Given the description of an element on the screen output the (x, y) to click on. 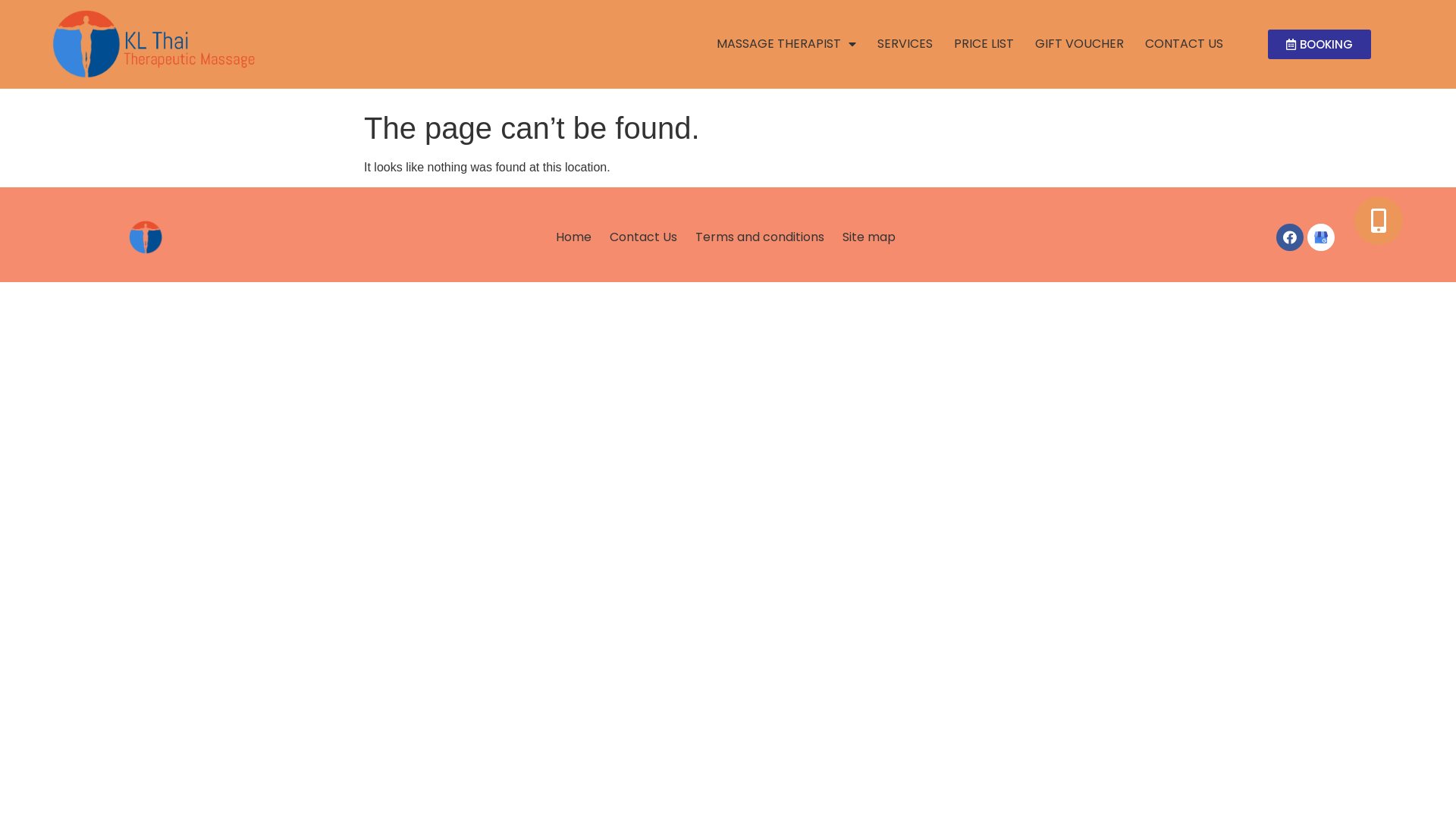
PRICE LIST Element type: text (983, 43)
Terms and conditions Element type: text (759, 236)
MASSAGE THERAPIST Element type: text (786, 43)
SERVICES Element type: text (904, 43)
GIFT VOUCHER Element type: text (1079, 43)
BOOKING Element type: text (1319, 44)
Contact Us Element type: text (643, 236)
Site map Element type: text (868, 236)
CONTACT US Element type: text (1183, 43)
Home Element type: text (573, 236)
